Given the description of an element on the screen output the (x, y) to click on. 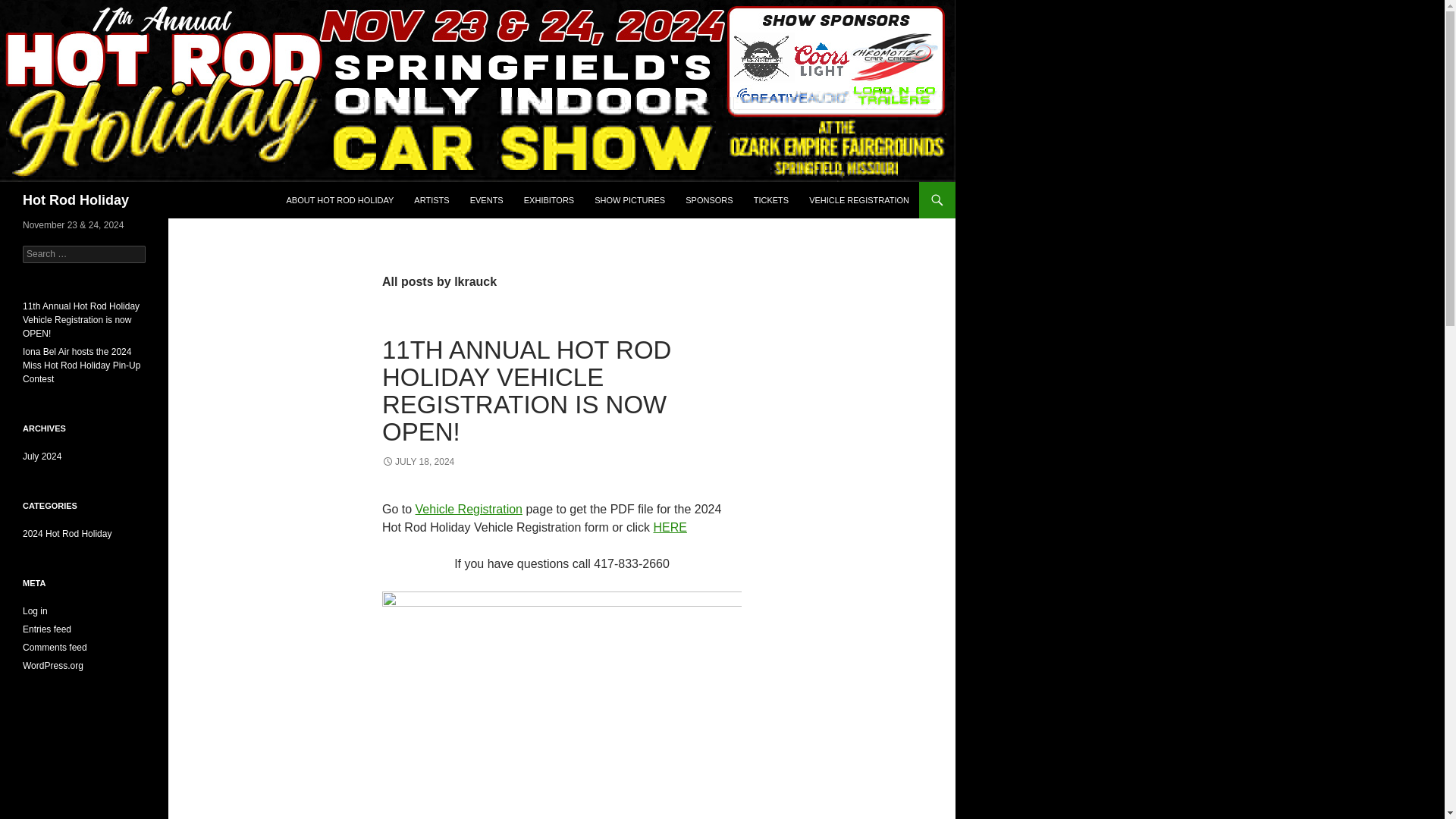
2024 Hot Rod Holiday (67, 533)
HERE (668, 526)
Comments feed (55, 647)
VEHICLE REGISTRATION (858, 199)
ARTISTS (431, 199)
Log in (35, 611)
WordPress.org (52, 665)
July 2024 (42, 456)
SHOW PICTURES (629, 199)
Hot Rod Holiday (76, 199)
Entries feed (47, 629)
EVENTS (486, 199)
